Given the description of an element on the screen output the (x, y) to click on. 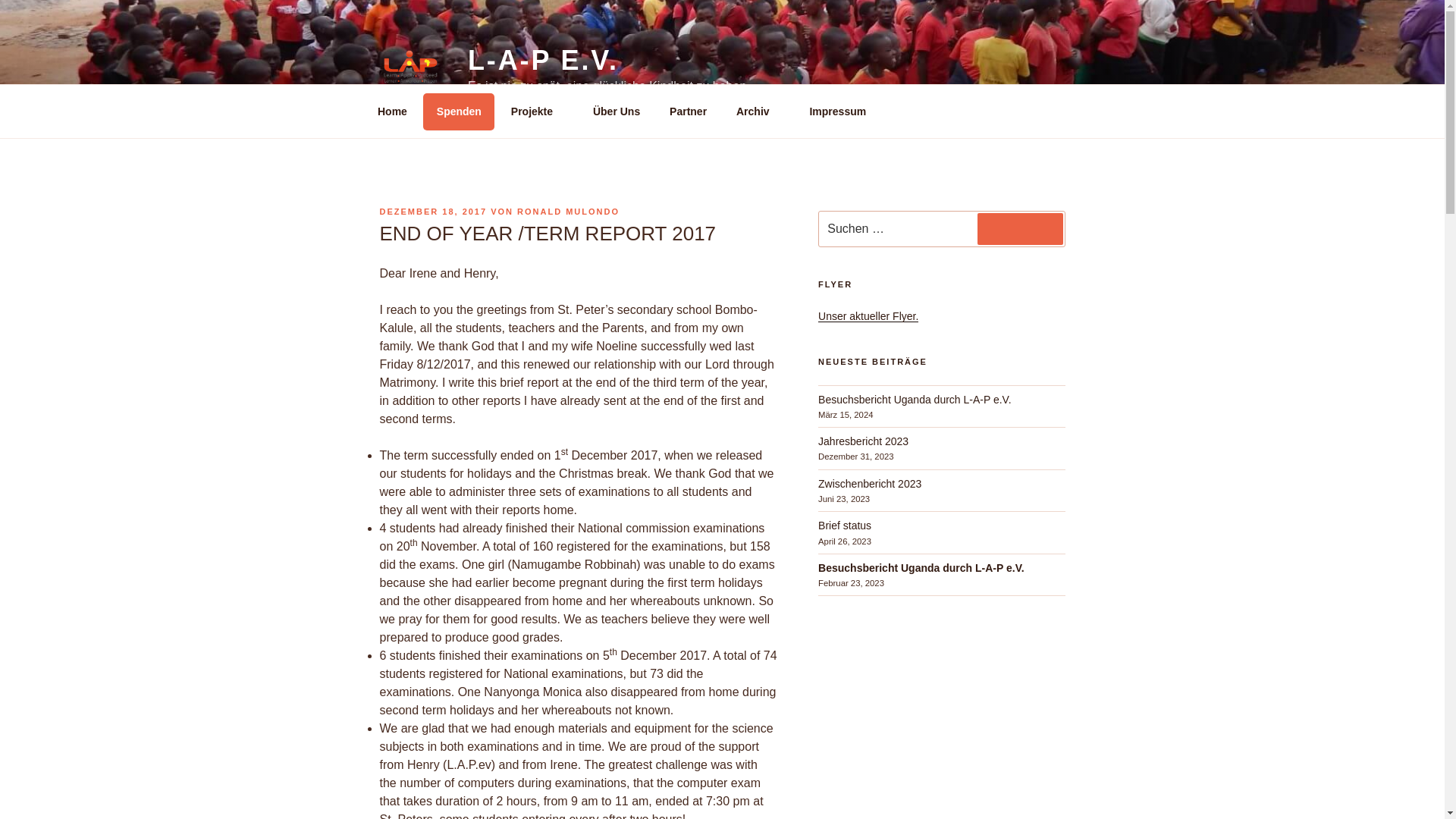
Unser aktueller Flyer. (868, 316)
Projekte (536, 110)
Partner (688, 110)
Archiv (758, 110)
RONALD MULONDO (568, 211)
Spenden (459, 110)
Suchen (1019, 228)
Impressum (842, 110)
Zwischenbericht 2023 (869, 483)
Jahresbericht 2023 (863, 440)
Brief status (844, 525)
Home (392, 110)
L-A-P E.V. (542, 60)
Besuchsbericht Uganda durch L-A-P e.V. (921, 567)
DEZEMBER 18, 2017 (432, 211)
